Given the description of an element on the screen output the (x, y) to click on. 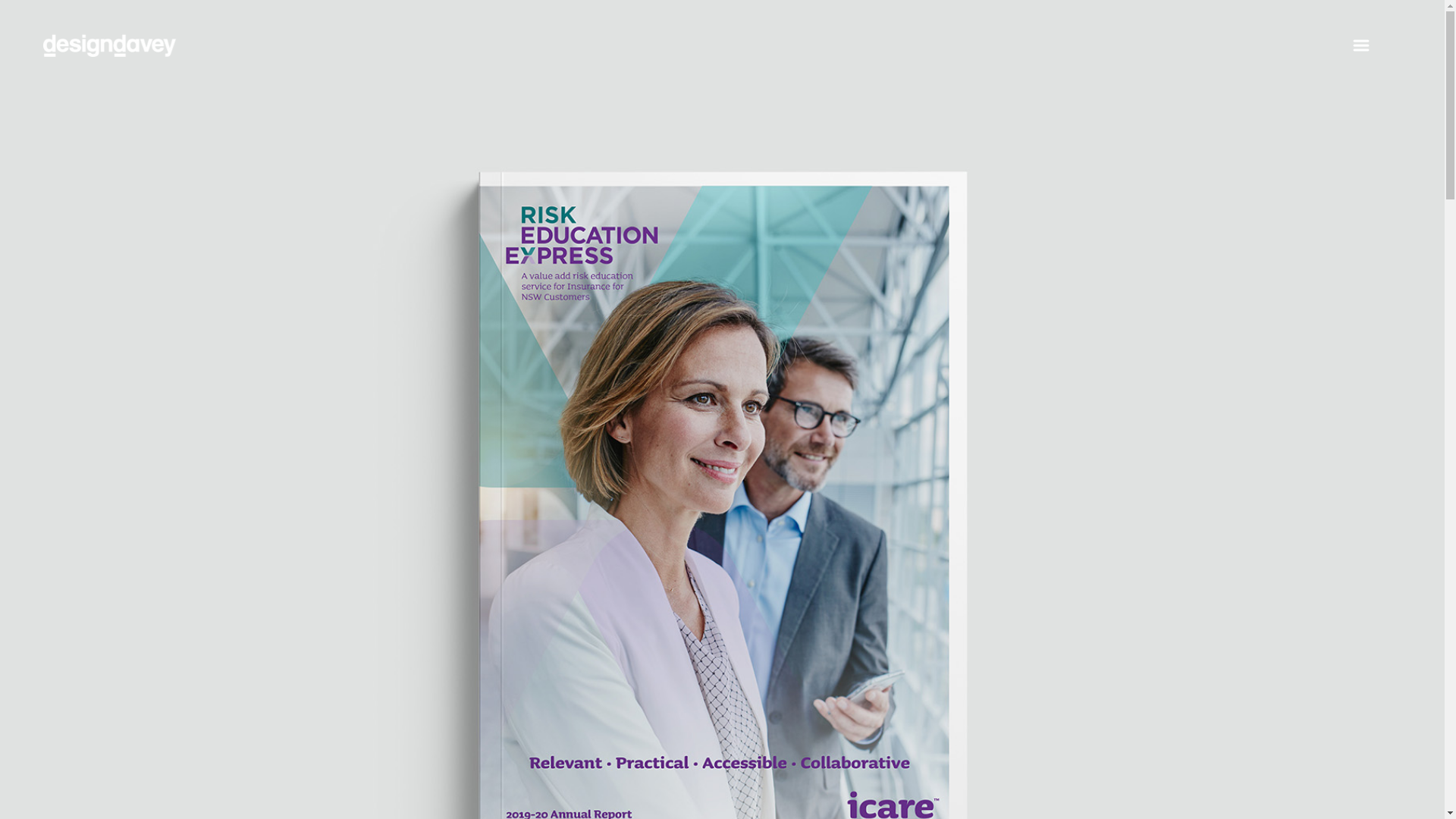
Home Element type: hover (109, 55)
